Given the description of an element on the screen output the (x, y) to click on. 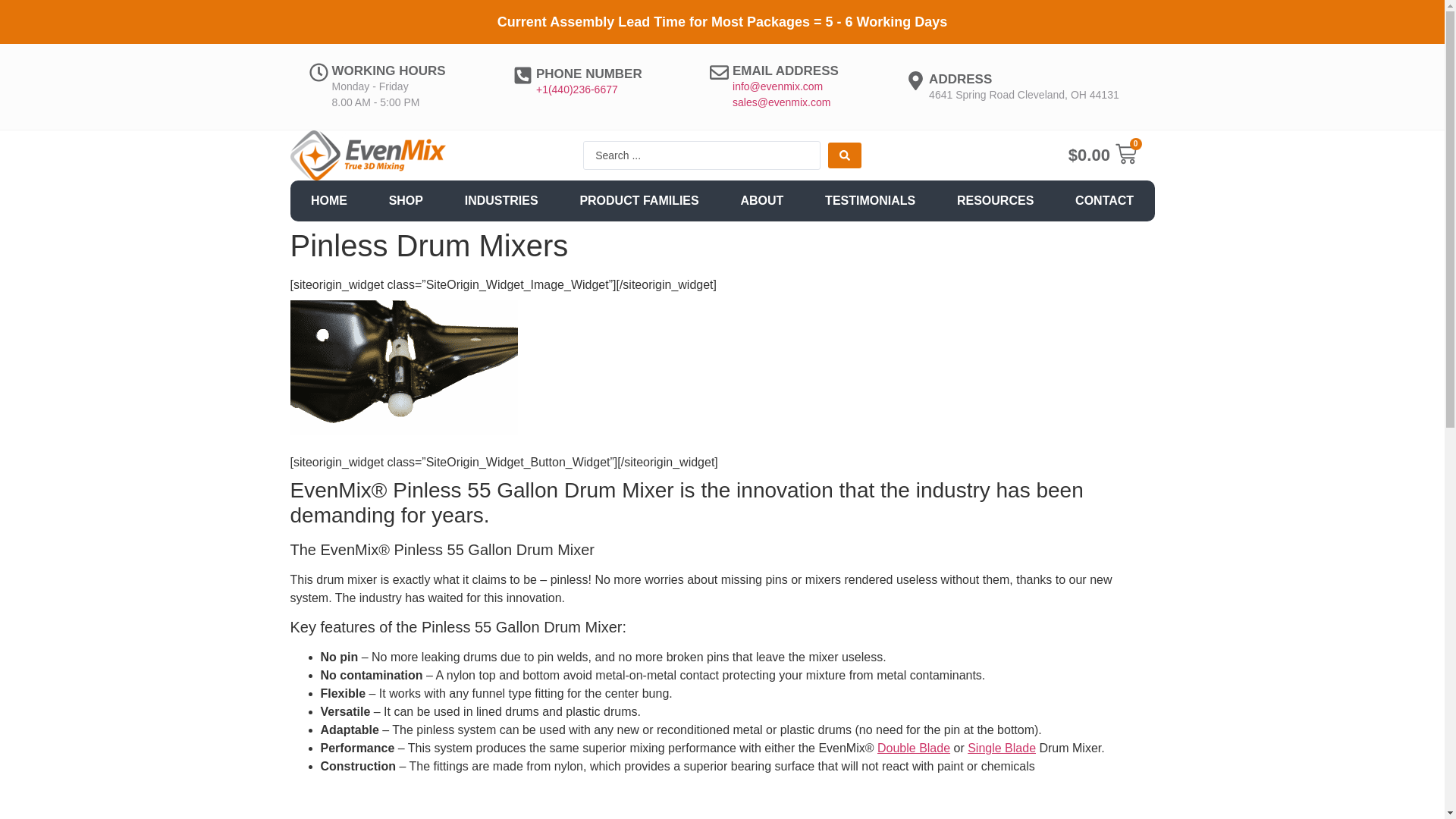
HOME (328, 200)
ADDRESS (959, 78)
PRODUCT FAMILIES (639, 200)
SHOP (406, 200)
EMAIL ADDRESS (785, 70)
INDUSTRIES (501, 200)
PHONE NUMBER (588, 73)
